Given the description of an element on the screen output the (x, y) to click on. 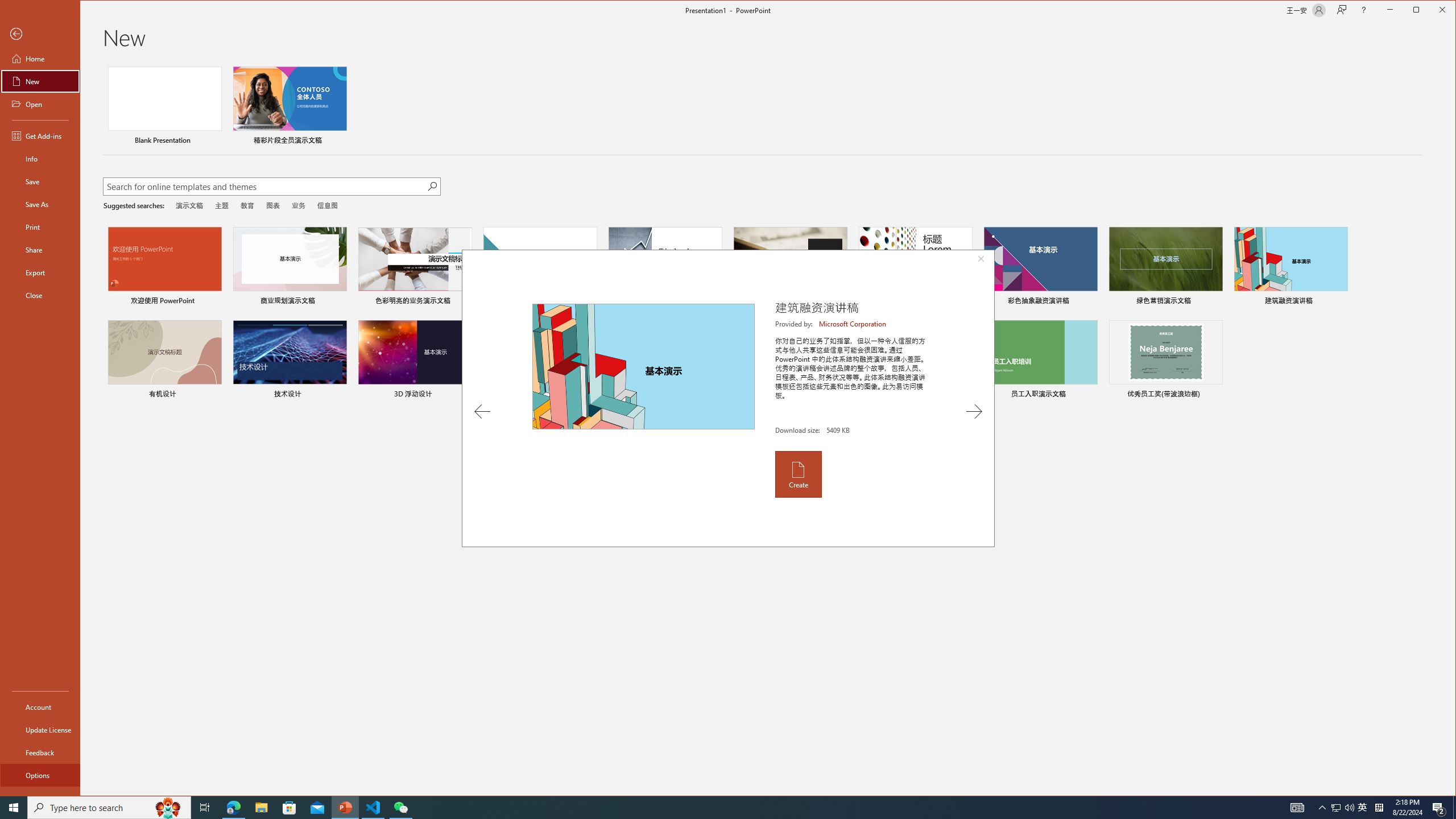
Feedback (40, 752)
WeChat - 1 running window (400, 807)
Microsoft Corporation (853, 323)
Start searching (431, 185)
Create (797, 474)
Maximize (1432, 11)
Blank Presentation (164, 107)
Search for online templates and themes (264, 187)
Back (40, 34)
